Given the description of an element on the screen output the (x, y) to click on. 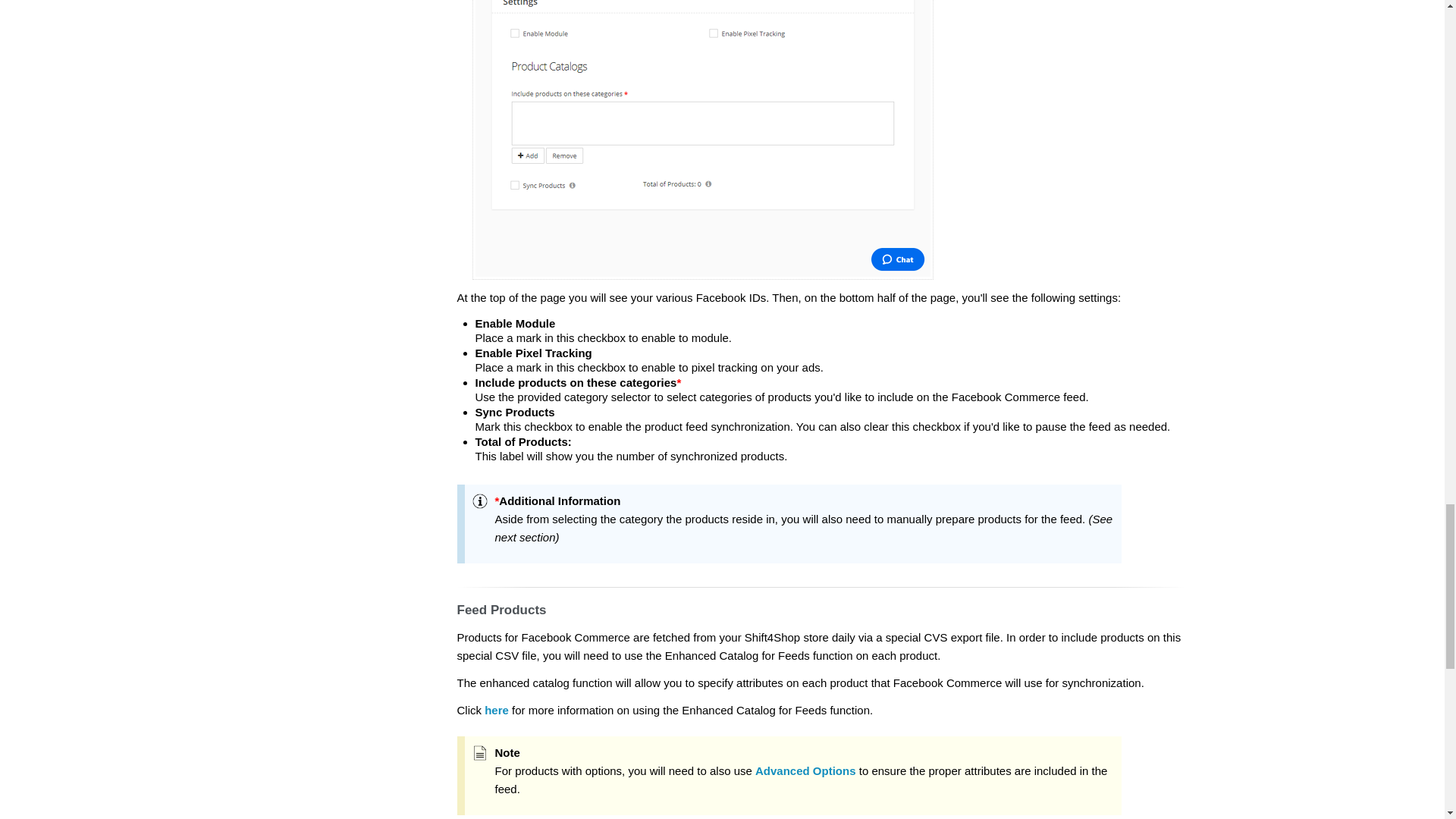
here (496, 709)
Advanced Options (805, 770)
